Given the description of an element on the screen output the (x, y) to click on. 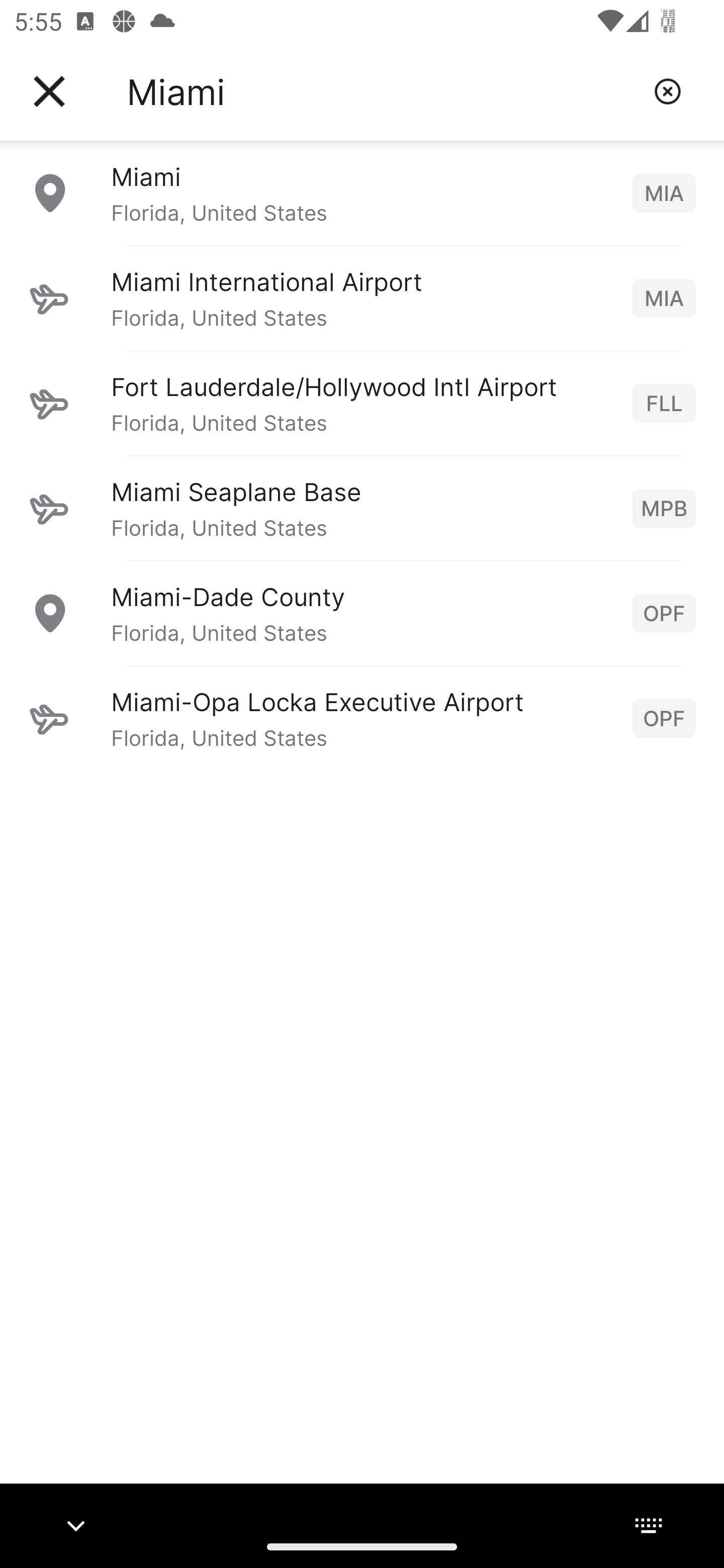
Miami (382, 91)
Miami Florida, United States MIA (362, 192)
Miami Seaplane Base Florida, United States MPB (362, 507)
Miami-Dade County Florida, United States OPF (362, 612)
